Given the description of an element on the screen output the (x, y) to click on. 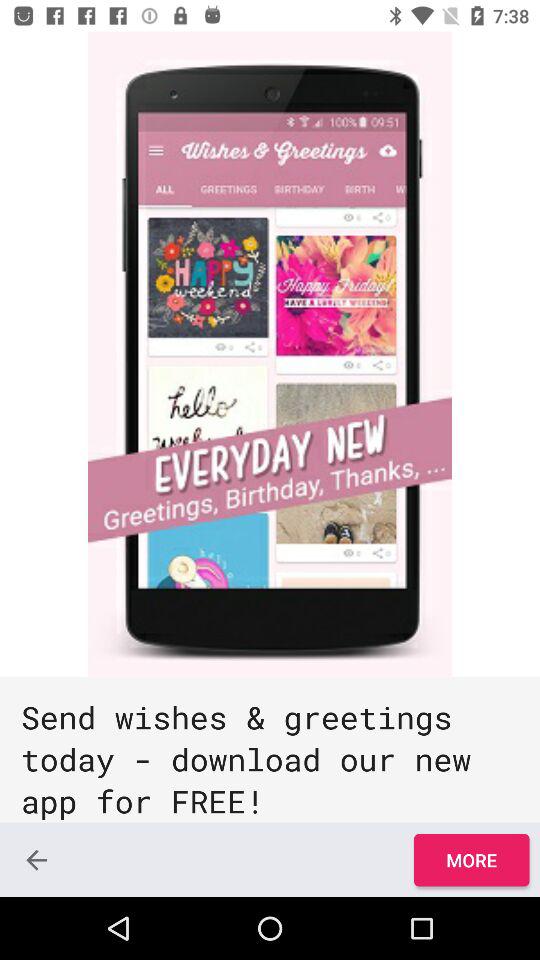
choose icon at the bottom left corner (36, 859)
